Given the description of an element on the screen output the (x, y) to click on. 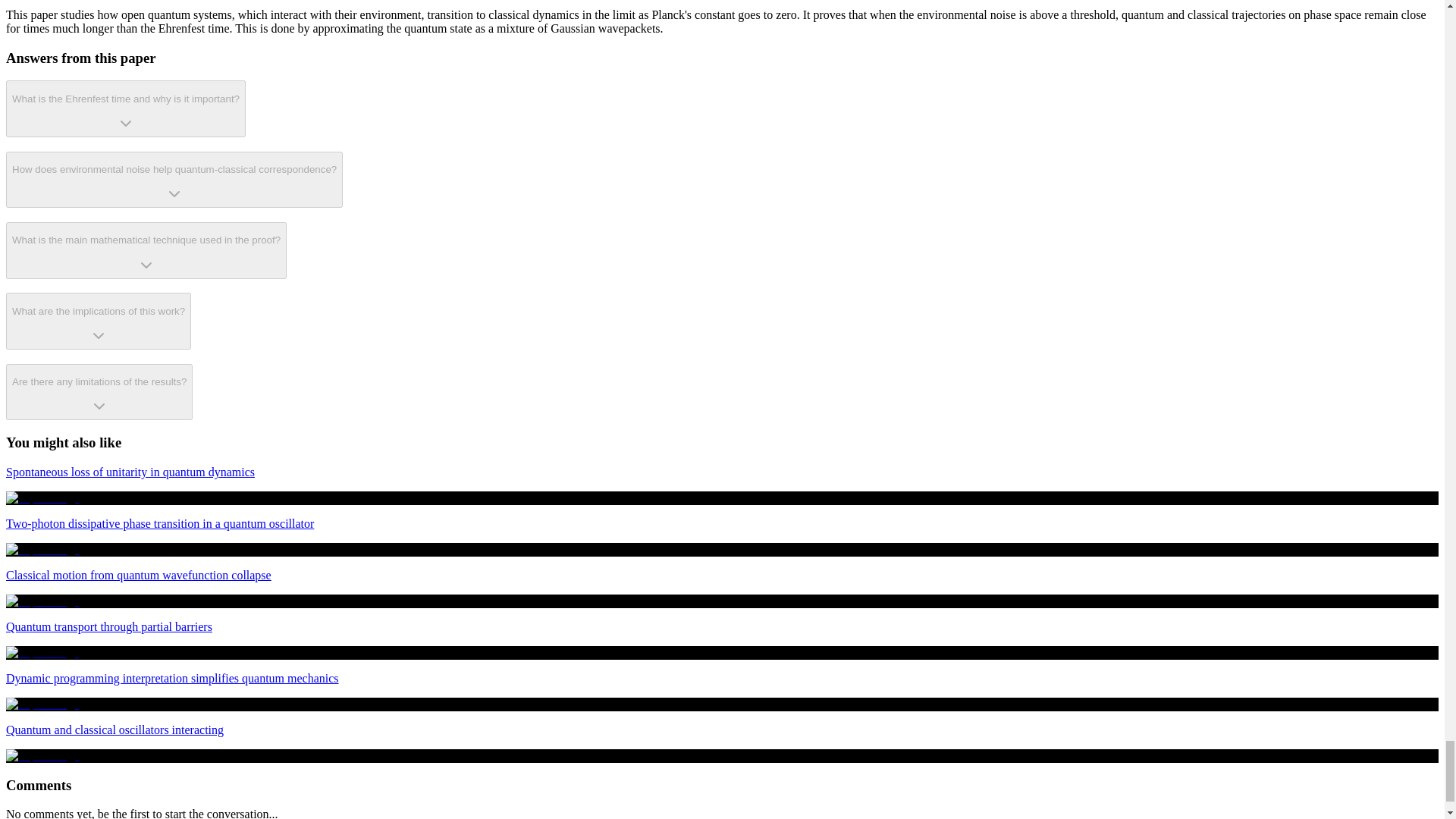
What is the Ehrenfest time and why is it important? (125, 108)
What are the implications of this work? (97, 320)
What is the main mathematical technique used in the proof? (145, 250)
Are there any limitations of the results? (98, 391)
